Given the description of an element on the screen output the (x, y) to click on. 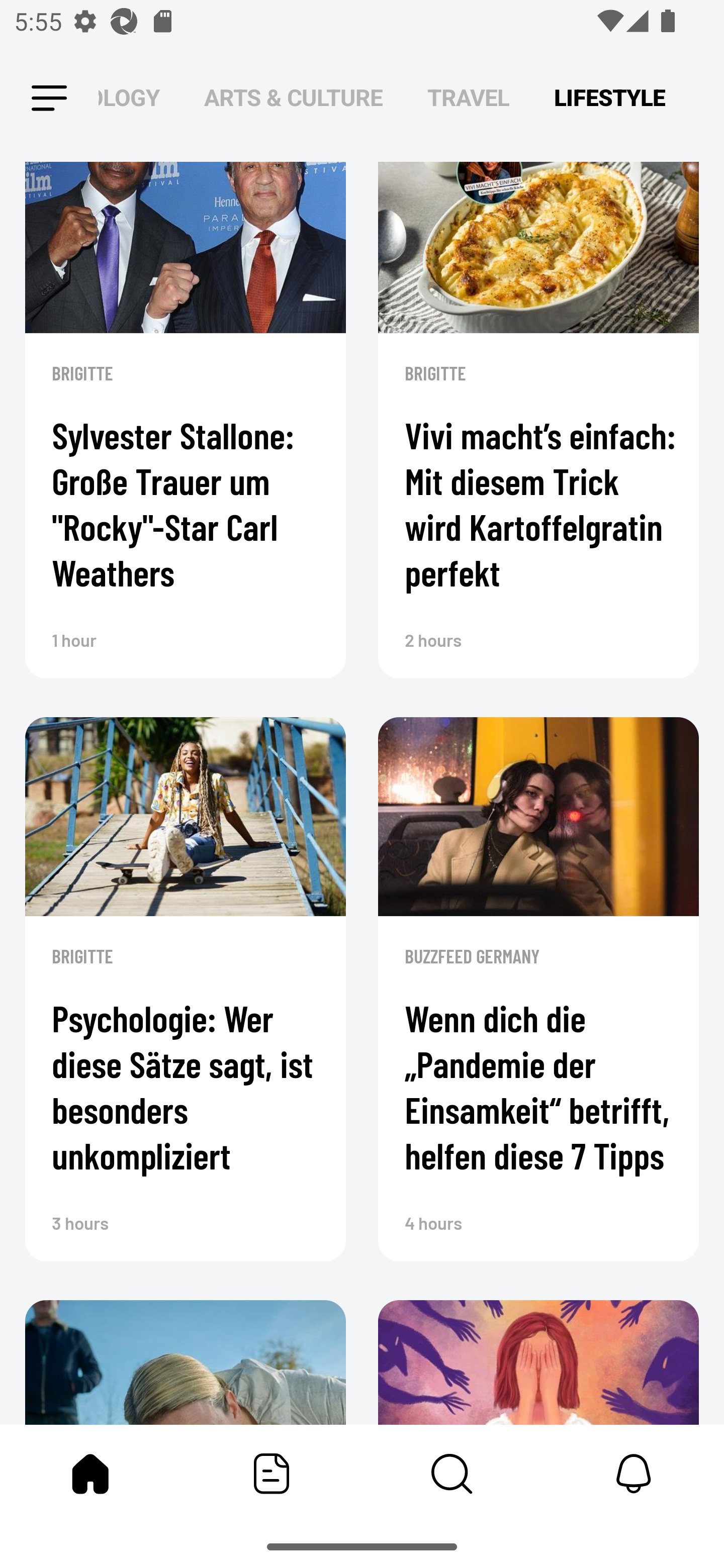
Leading Icon (49, 98)
TECHNOLOGY (129, 97)
ARTS & CULTURE (293, 97)
TRAVEL (468, 97)
Featured (271, 1473)
Content Store (452, 1473)
Notifications (633, 1473)
